Given the description of an element on the screen output the (x, y) to click on. 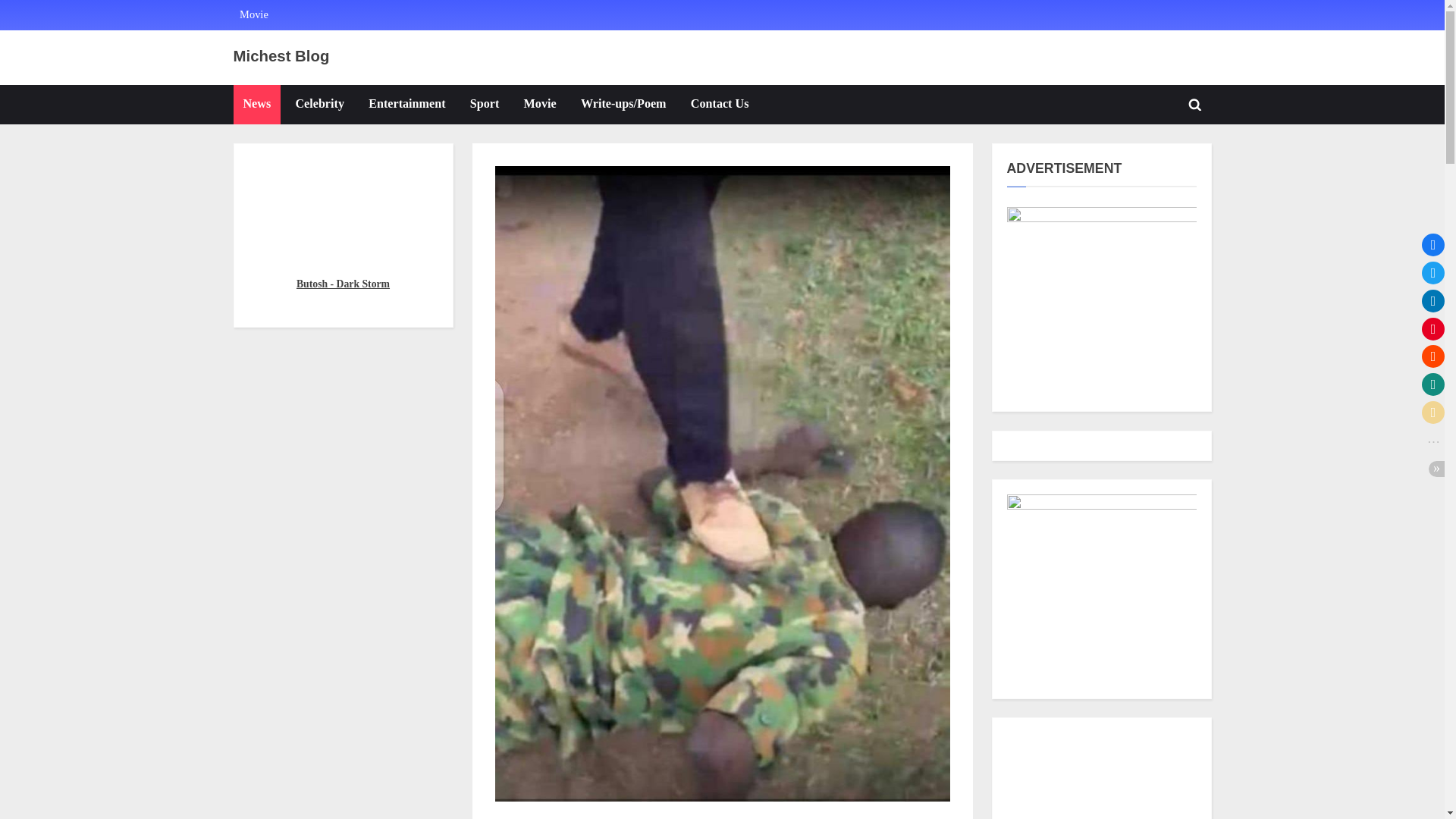
Dark Storm -  Butosh ft  Mullar (343, 211)
Entertainment (406, 104)
News (256, 104)
Movie (253, 15)
Sport (484, 104)
Contact Us (719, 104)
Michest Blog (281, 55)
Butosh - Dark Storm (343, 283)
Movie (539, 104)
Celebrity (319, 104)
